Given the description of an element on the screen output the (x, y) to click on. 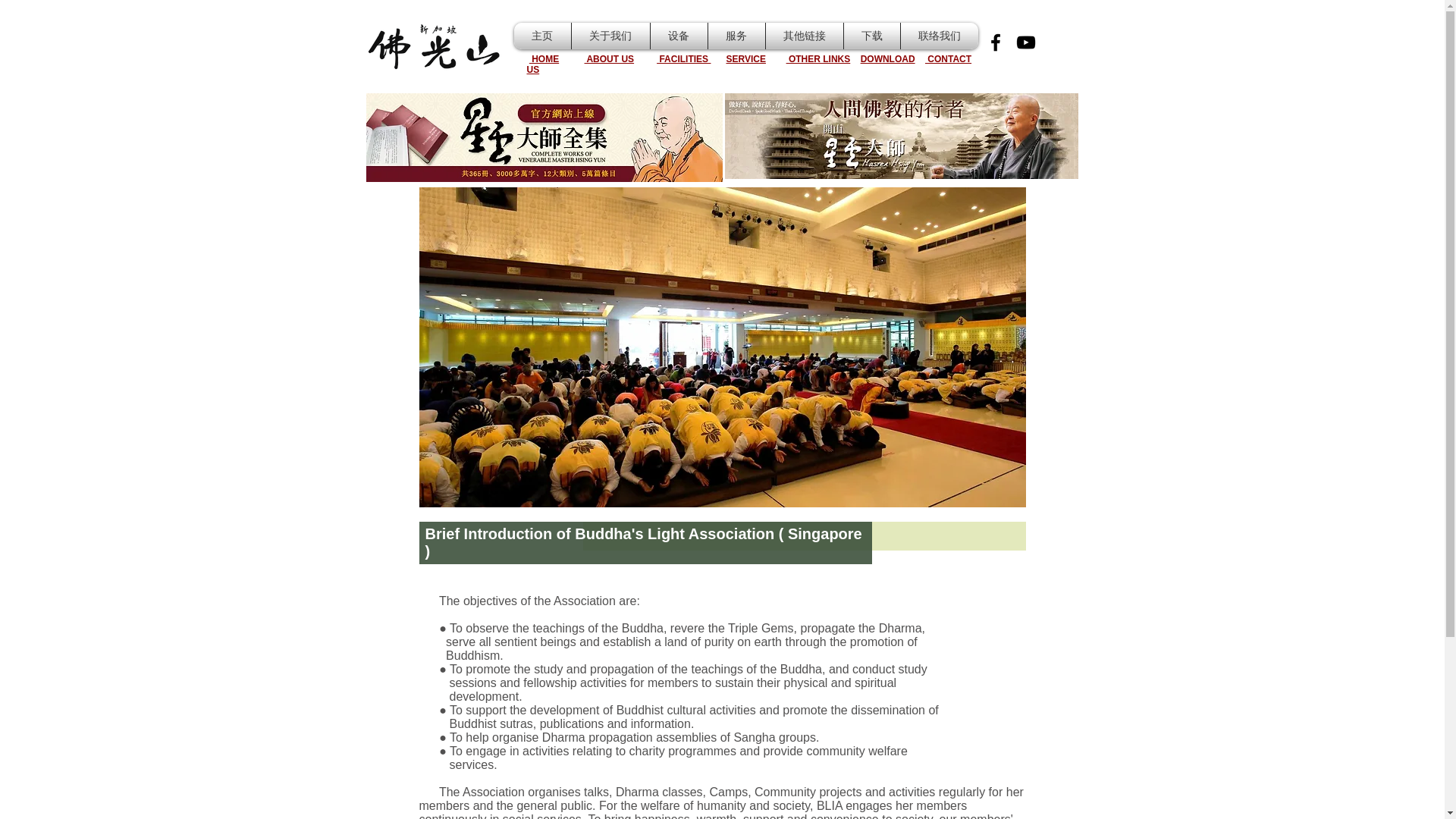
 OTHER LINKS (818, 59)
 FACILITIES (683, 59)
DOWNLOAD (887, 59)
HOME (544, 59)
 CONTACT US (748, 64)
SERVICE (745, 59)
ABOUT US (609, 59)
